Given the description of an element on the screen output the (x, y) to click on. 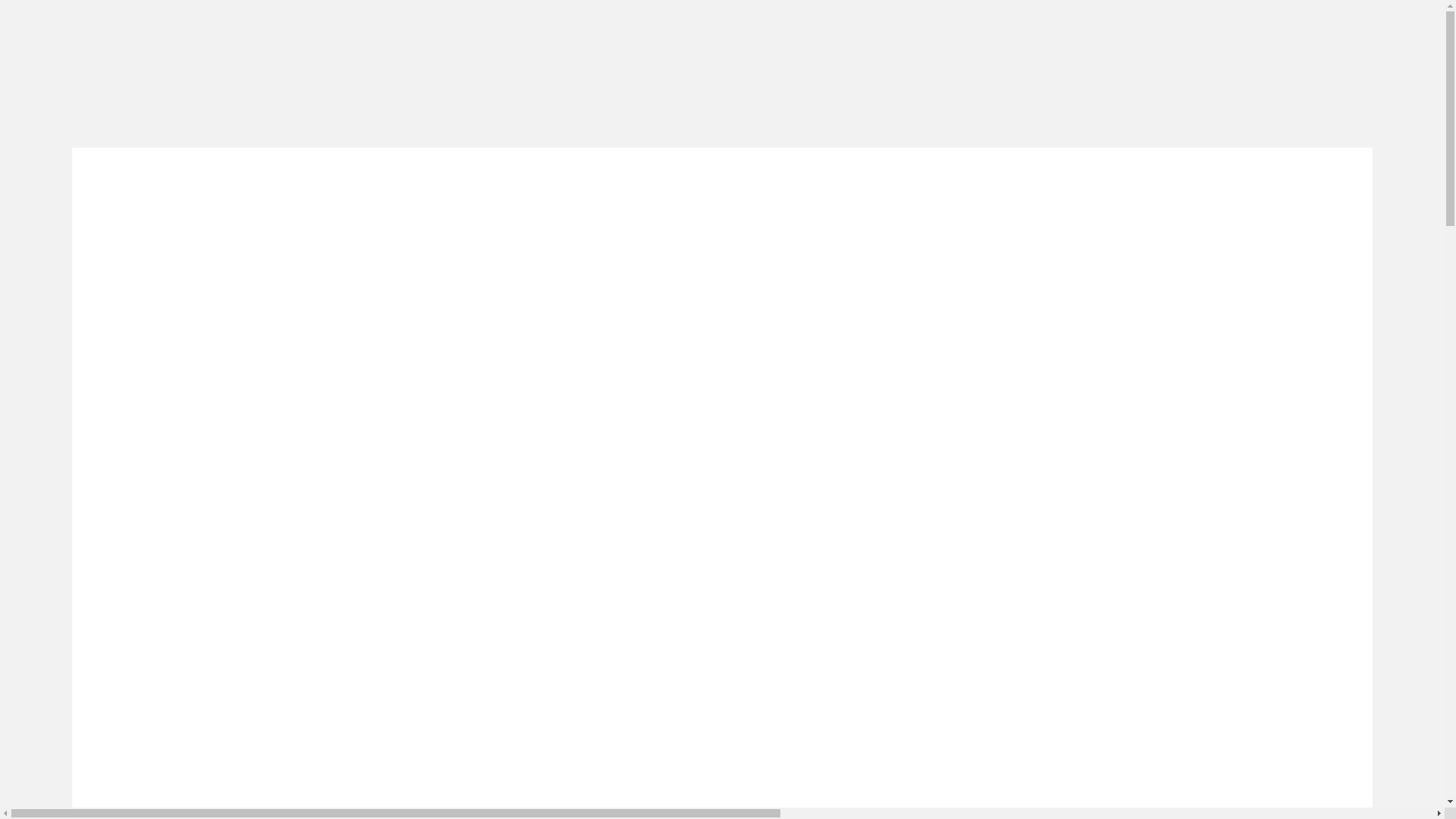
Home (478, 194)
Flood and Furrow Irrigation Techniques (814, 257)
Cart (1217, 194)
Contact Us (875, 194)
Blog (817, 194)
Boxes (572, 194)
DitchGates (667, 257)
Help (776, 194)
Gallery (730, 194)
Blog (610, 257)
